Given the description of an element on the screen output the (x, y) to click on. 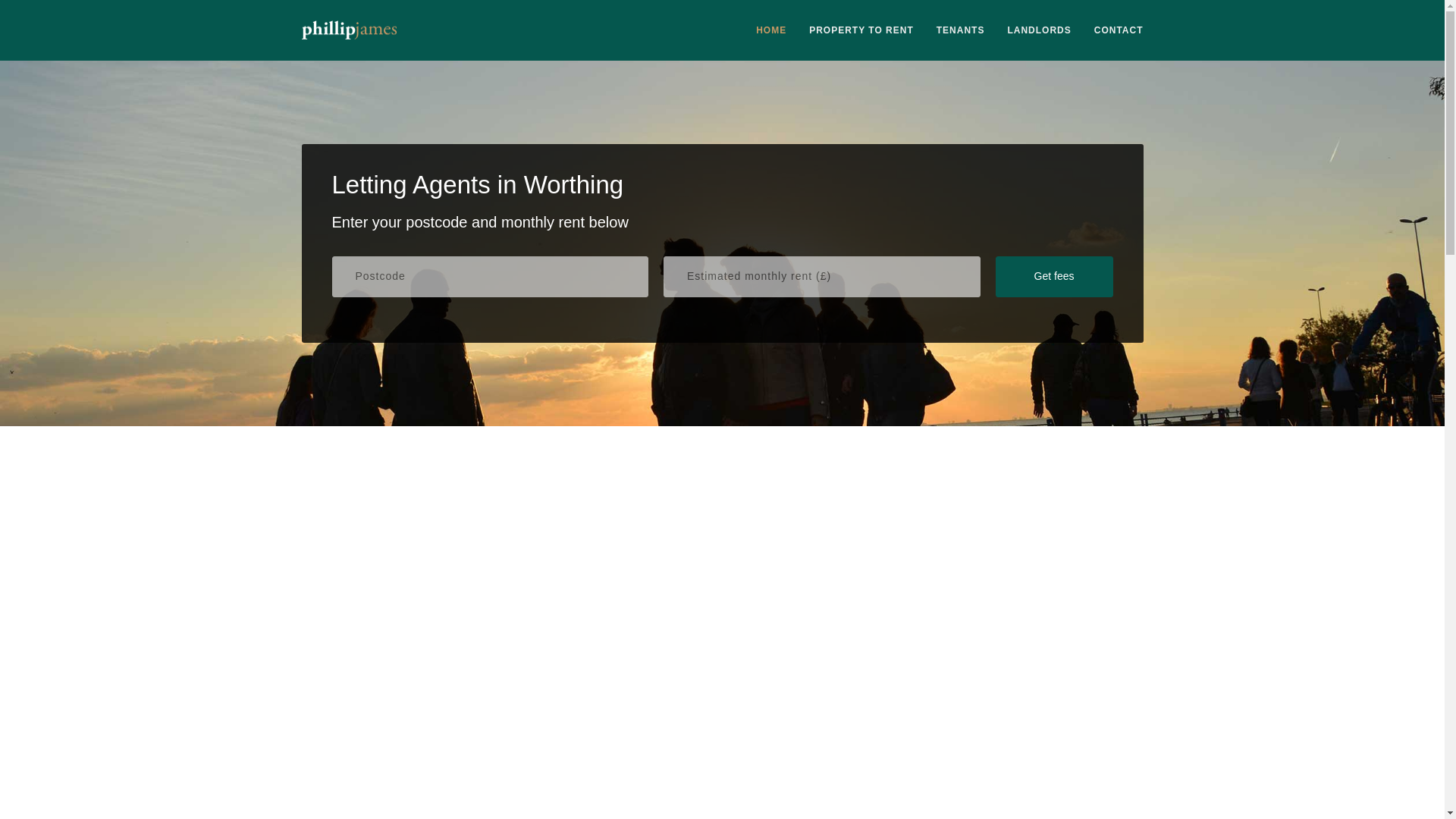
Get fees (1053, 276)
LANDLORDS (1038, 30)
PROPERTY TO RENT (861, 30)
